Given the description of an element on the screen output the (x, y) to click on. 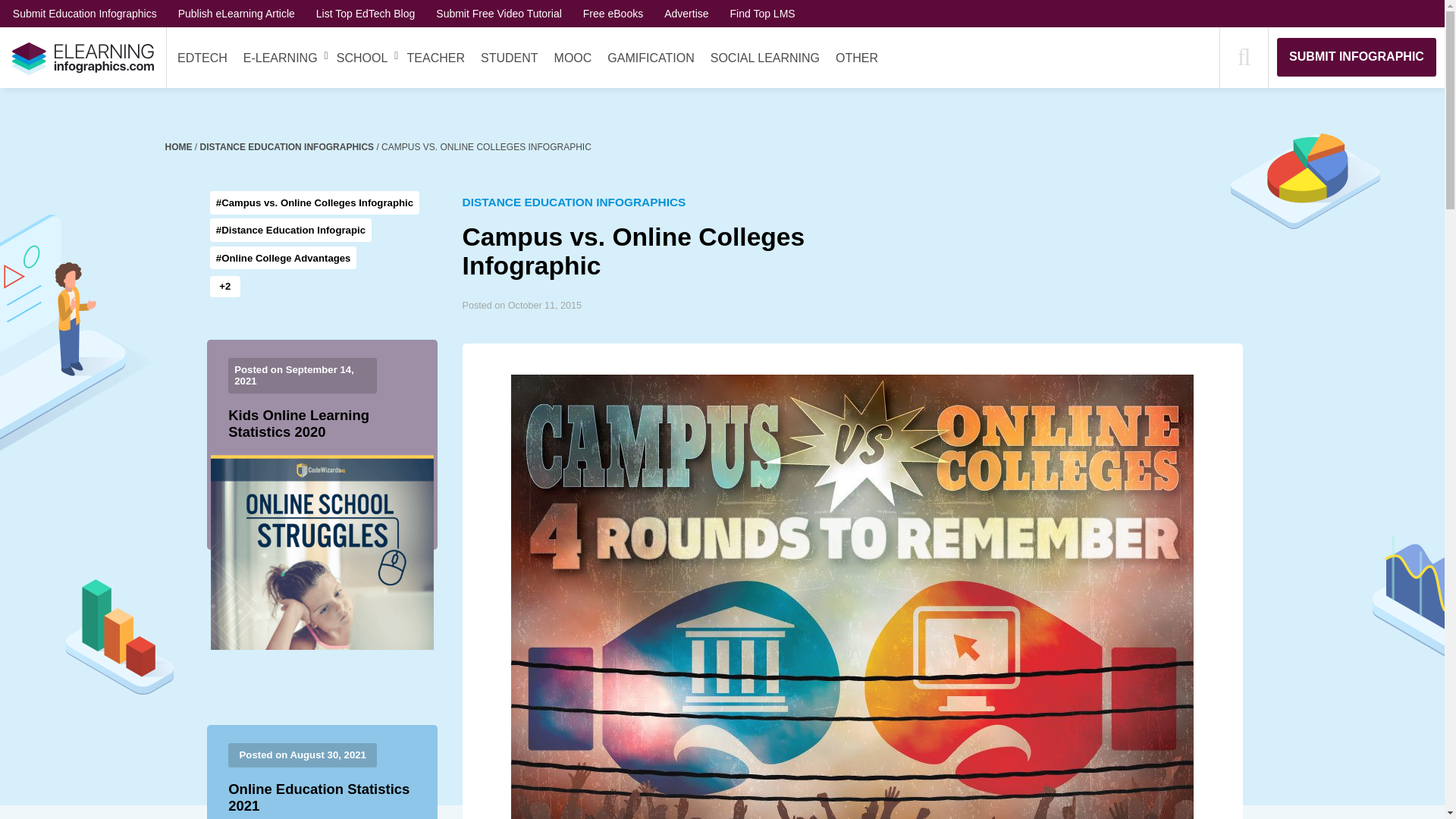
Find Top LMS (762, 13)
E-LEARNING (280, 58)
Teacher Infographics (435, 58)
SOCIAL LEARNING (764, 58)
Free eBooks (613, 13)
HOME (180, 146)
SUBMIT INFOGRAPHIC (1355, 56)
Submit Free Video Tutorial (498, 13)
GAMIFICATION (650, 58)
STUDENT (509, 58)
Publish eLearning Article (236, 13)
Student Infographics (509, 58)
Gamification Infographics (650, 58)
Advertise (685, 13)
DISTANCE EDUCATION INFOGRAPHICS (288, 146)
